Given the description of an element on the screen output the (x, y) to click on. 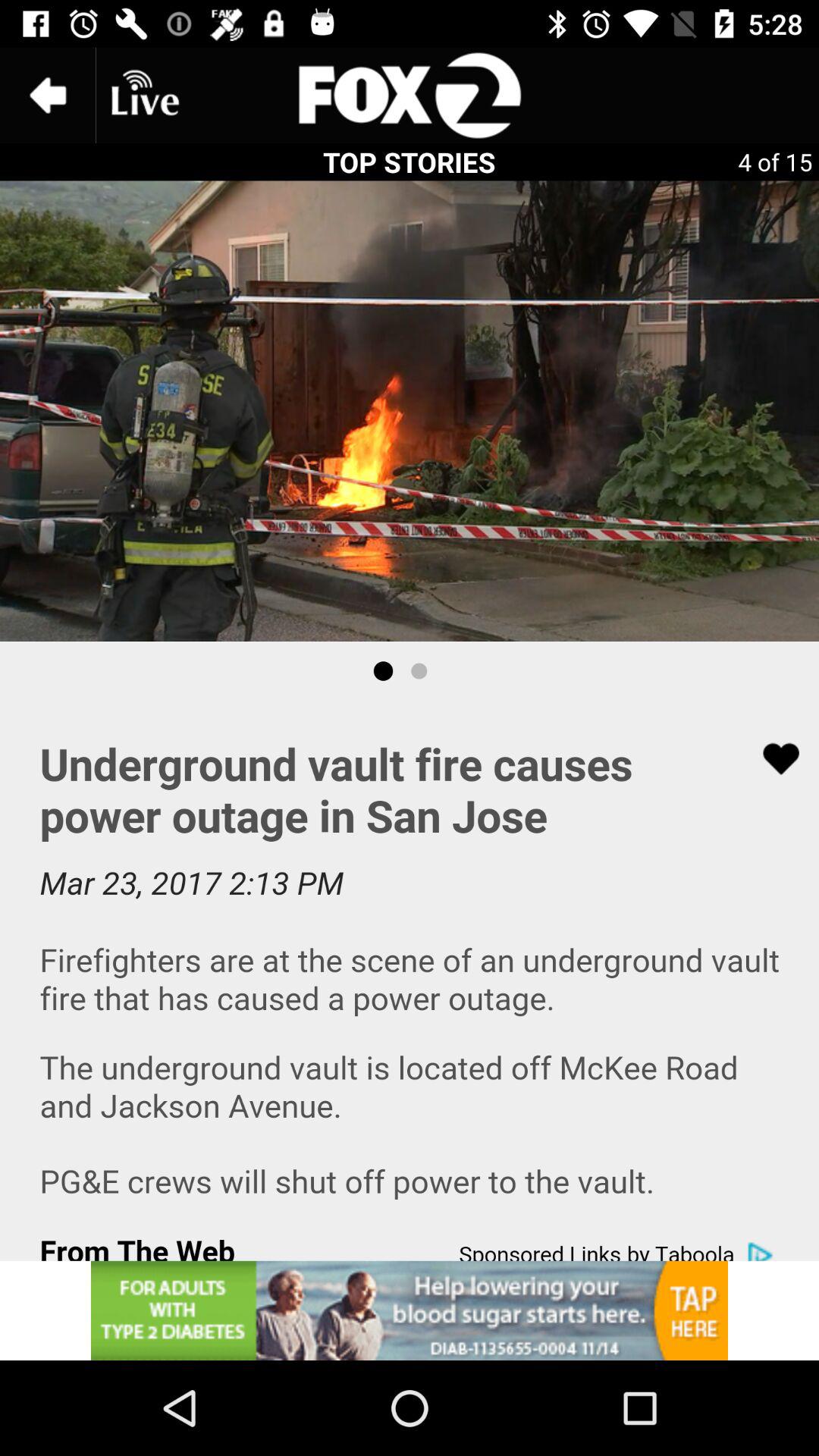
add the option (409, 1310)
